Given the description of an element on the screen output the (x, y) to click on. 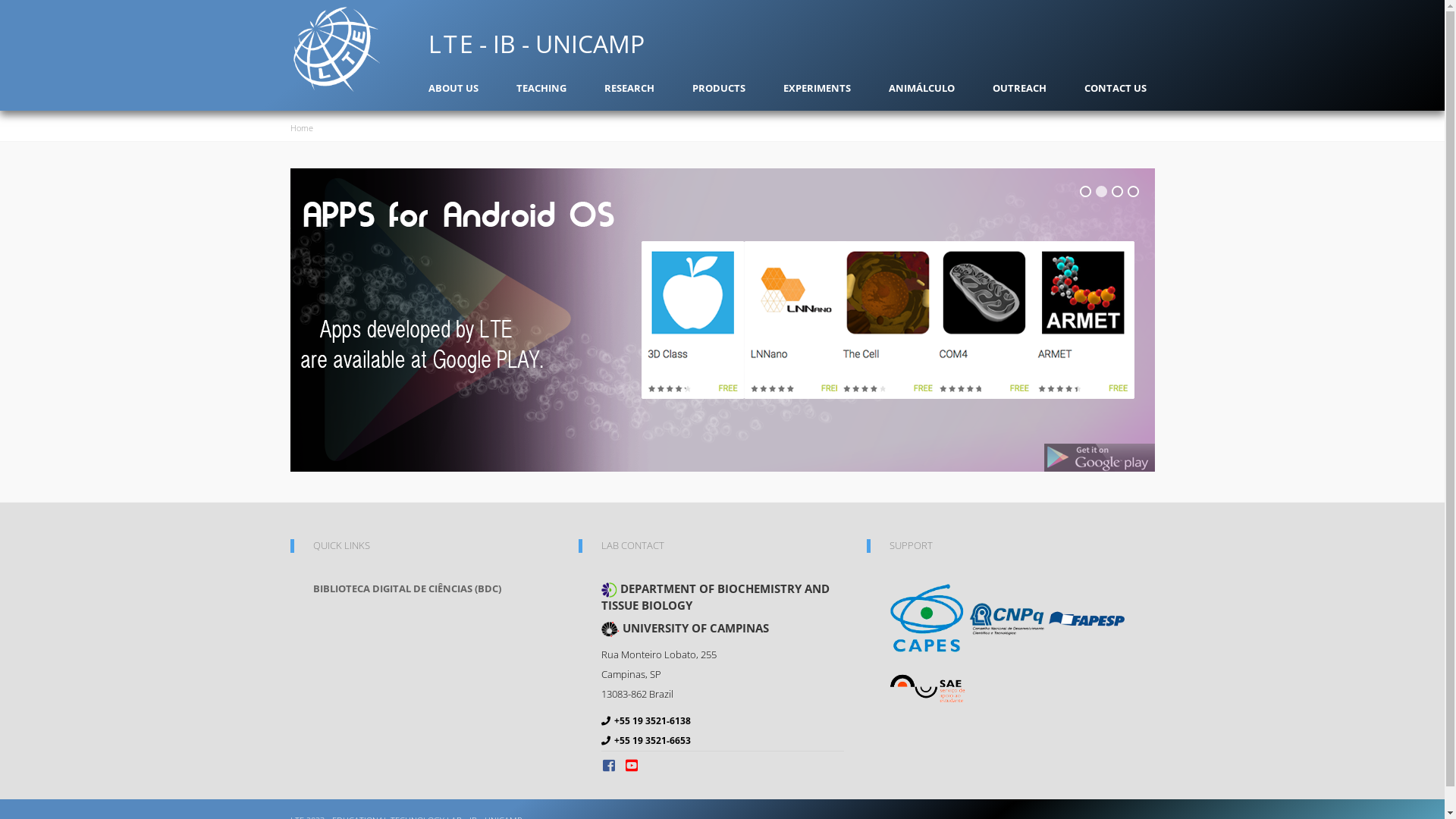
Home Element type: hover (358, 48)
DEPARTMENT OF BIOCHEMISTRY AND TISSUE BIOLOGY Element type: text (721, 596)
TEACHING Element type: text (540, 87)
CONTACT US Element type: text (1115, 87)
CAPES Element type: hover (926, 616)
CNPQ Element type: hover (1006, 616)
LTE on Facebook Element type: hover (610, 765)
ABOUT US Element type: text (452, 87)
UNIVERSITY OF CAMPINAS Element type: text (721, 628)
LTE on YouTube Element type: hover (631, 765)
OUTREACH Element type: text (1018, 87)
PRODUCTS Element type: text (717, 87)
RESEARCH Element type: text (628, 87)
EXPERIMENTS Element type: text (816, 87)
SAE Element type: hover (926, 687)
Click to access Element type: hover (721, 319)
FAPESP Element type: hover (1085, 616)
